Given the description of an element on the screen output the (x, y) to click on. 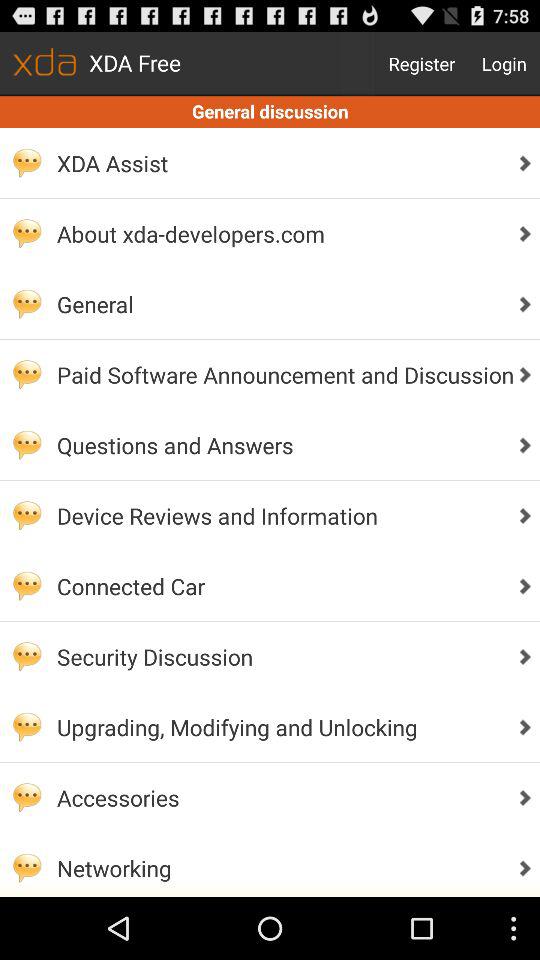
flip until security discussion item (280, 656)
